Given the description of an element on the screen output the (x, y) to click on. 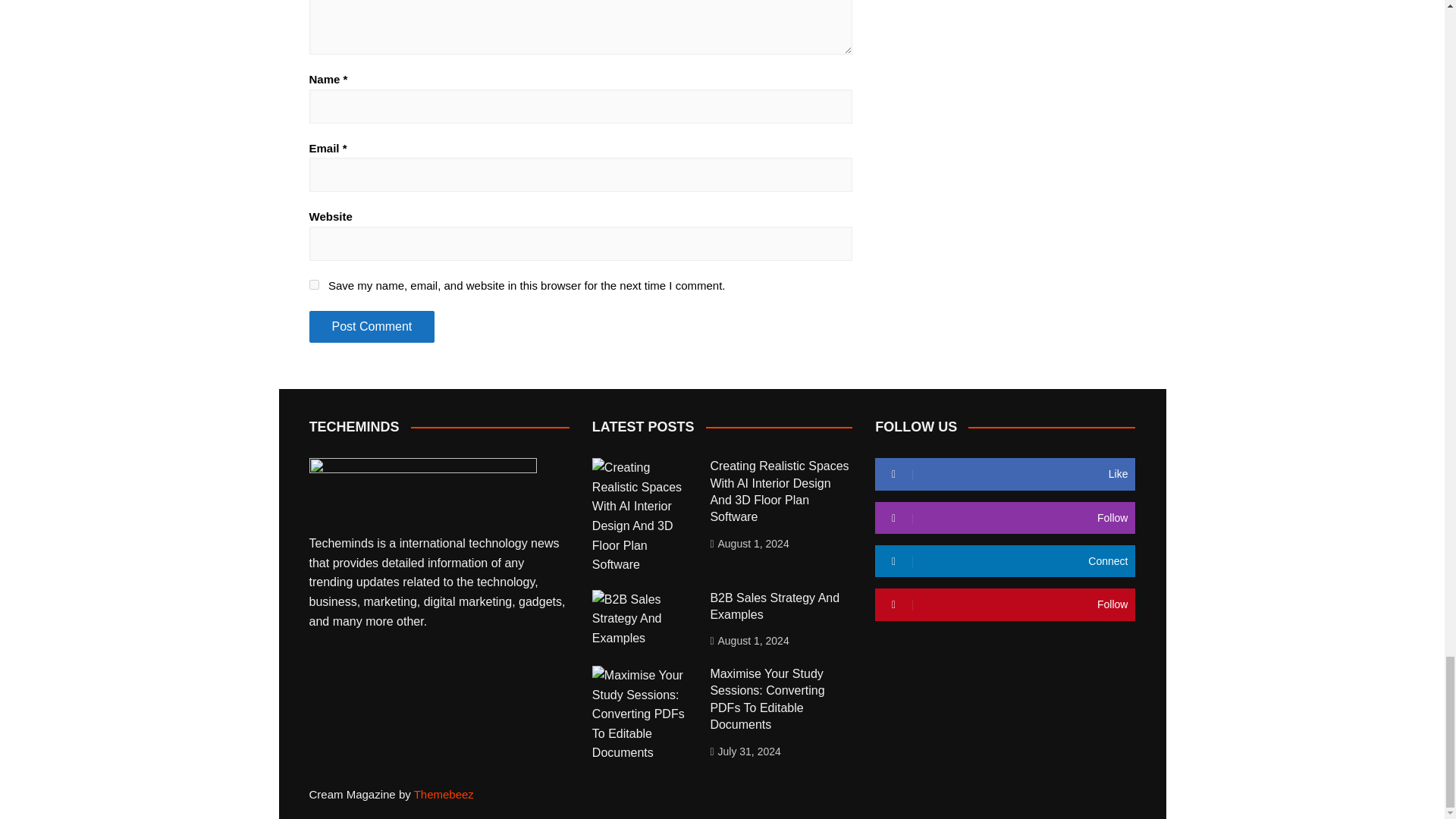
Post Comment (371, 327)
yes (313, 284)
